Given the description of an element on the screen output the (x, y) to click on. 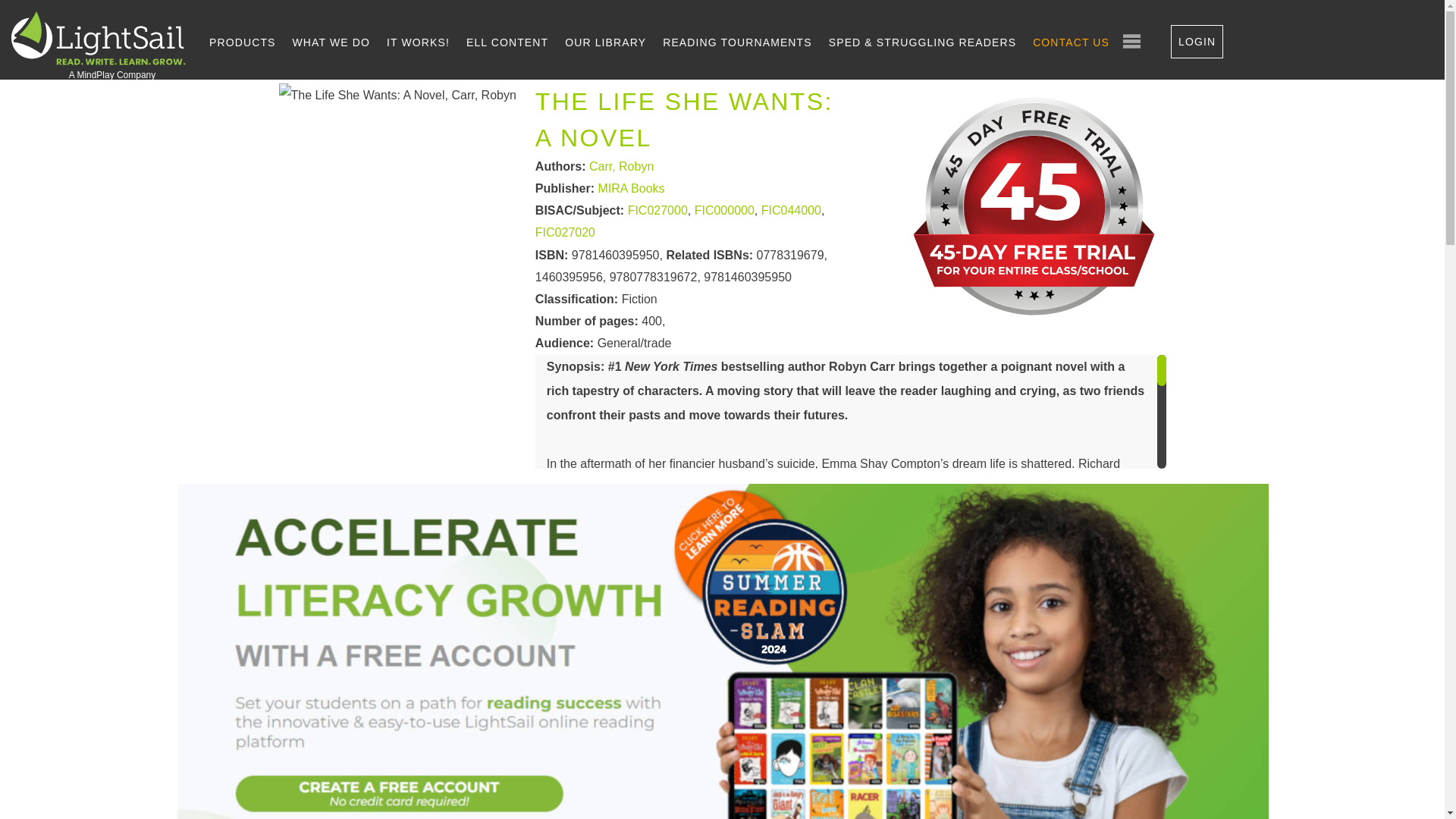
LOGIN (1197, 41)
FIC000000 (724, 210)
WHAT WE DO (331, 42)
MIRA Books (631, 188)
ELL CONTENT (507, 42)
READING TOURNAMENTS (737, 42)
FIC027020 (565, 232)
IT WORKS! (418, 42)
FIC027000 (657, 210)
Try LightSail (1035, 324)
